Given the description of an element on the screen output the (x, y) to click on. 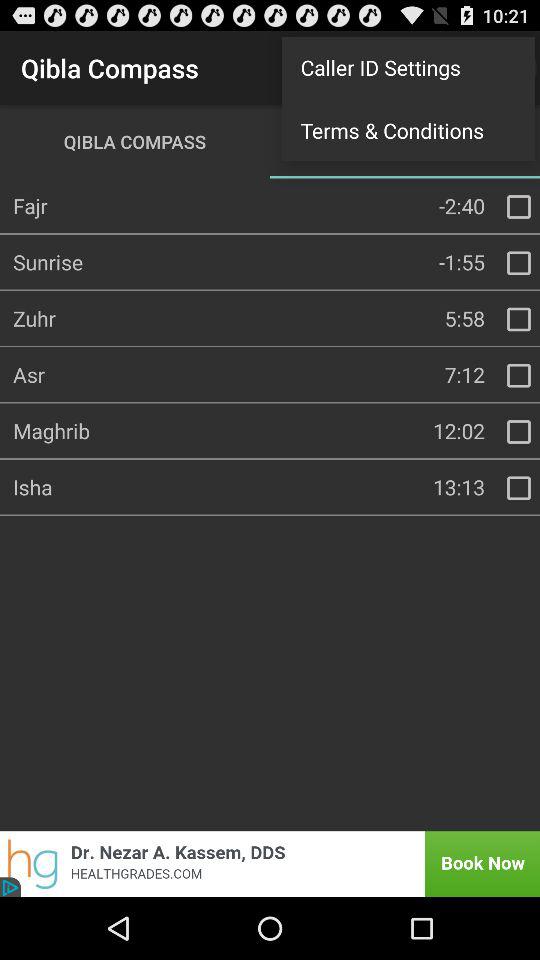
selecting box (519, 207)
